Given the description of an element on the screen output the (x, y) to click on. 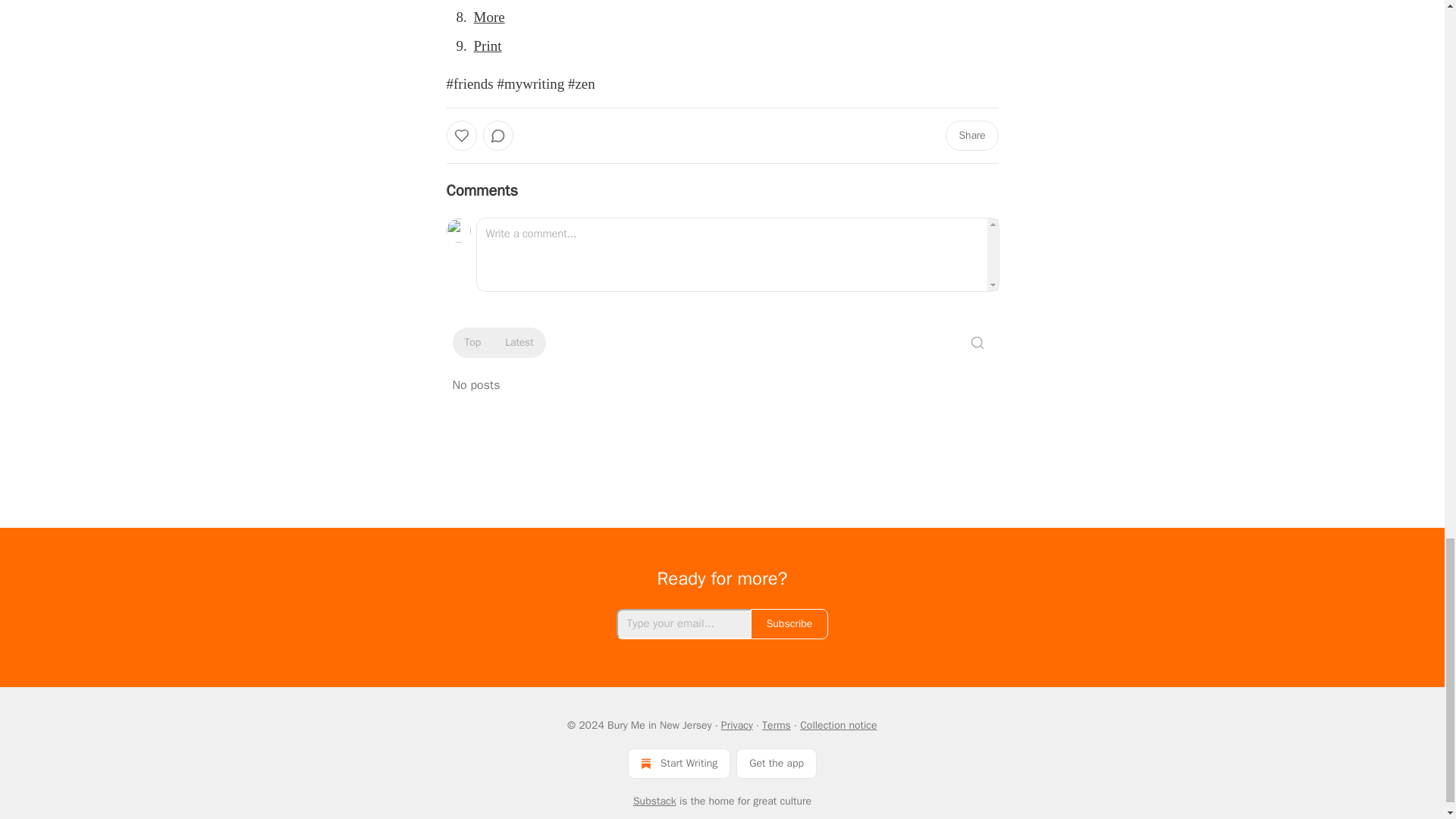
More (488, 17)
Print (486, 45)
